Given the description of an element on the screen output the (x, y) to click on. 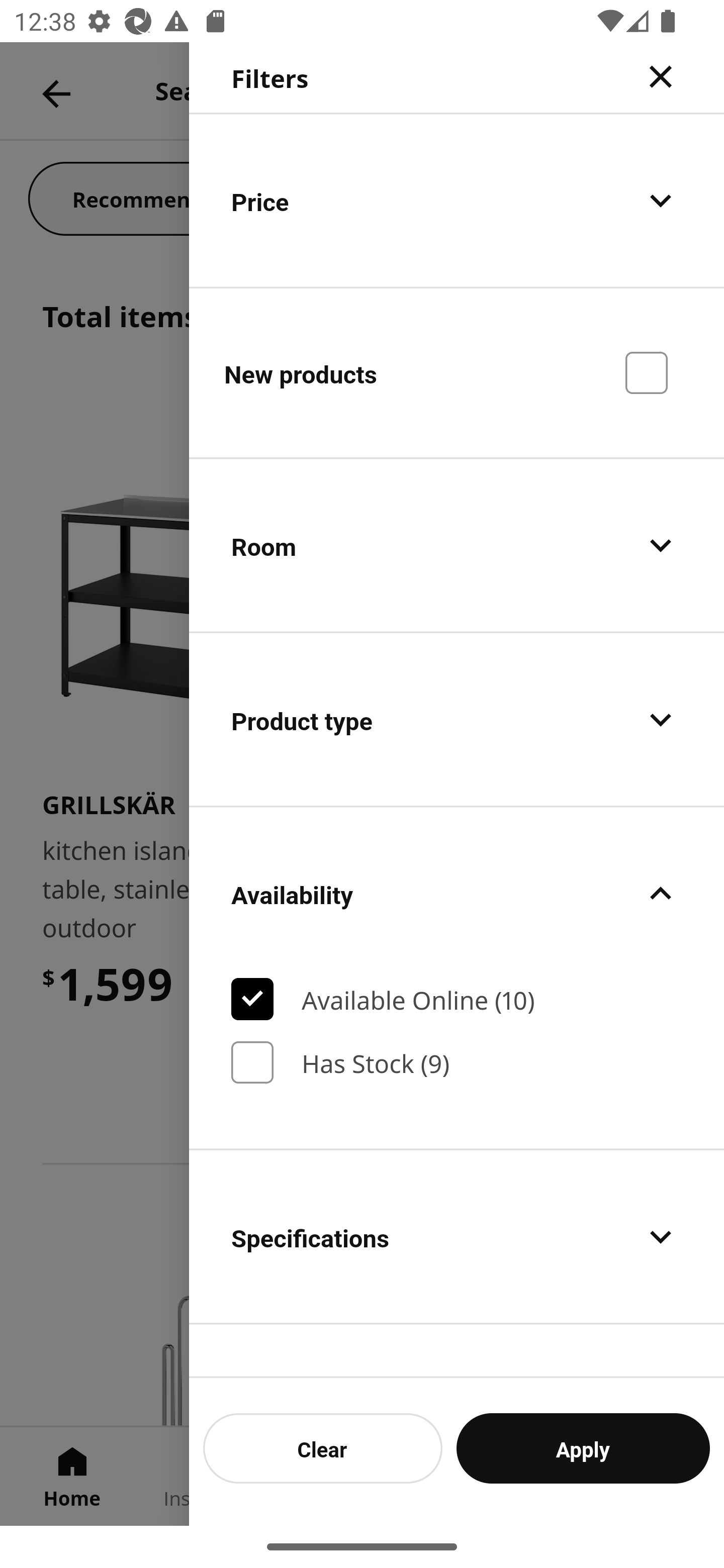
Price (456, 200)
New products (456, 371)
Room (456, 545)
Product type (456, 719)
Availability (456, 893)
Available Online (10) (456, 999)
Has Stock (9) (456, 1062)
Specifications (456, 1236)
Clear (322, 1447)
Apply (583, 1447)
